Given the description of an element on the screen output the (x, y) to click on. 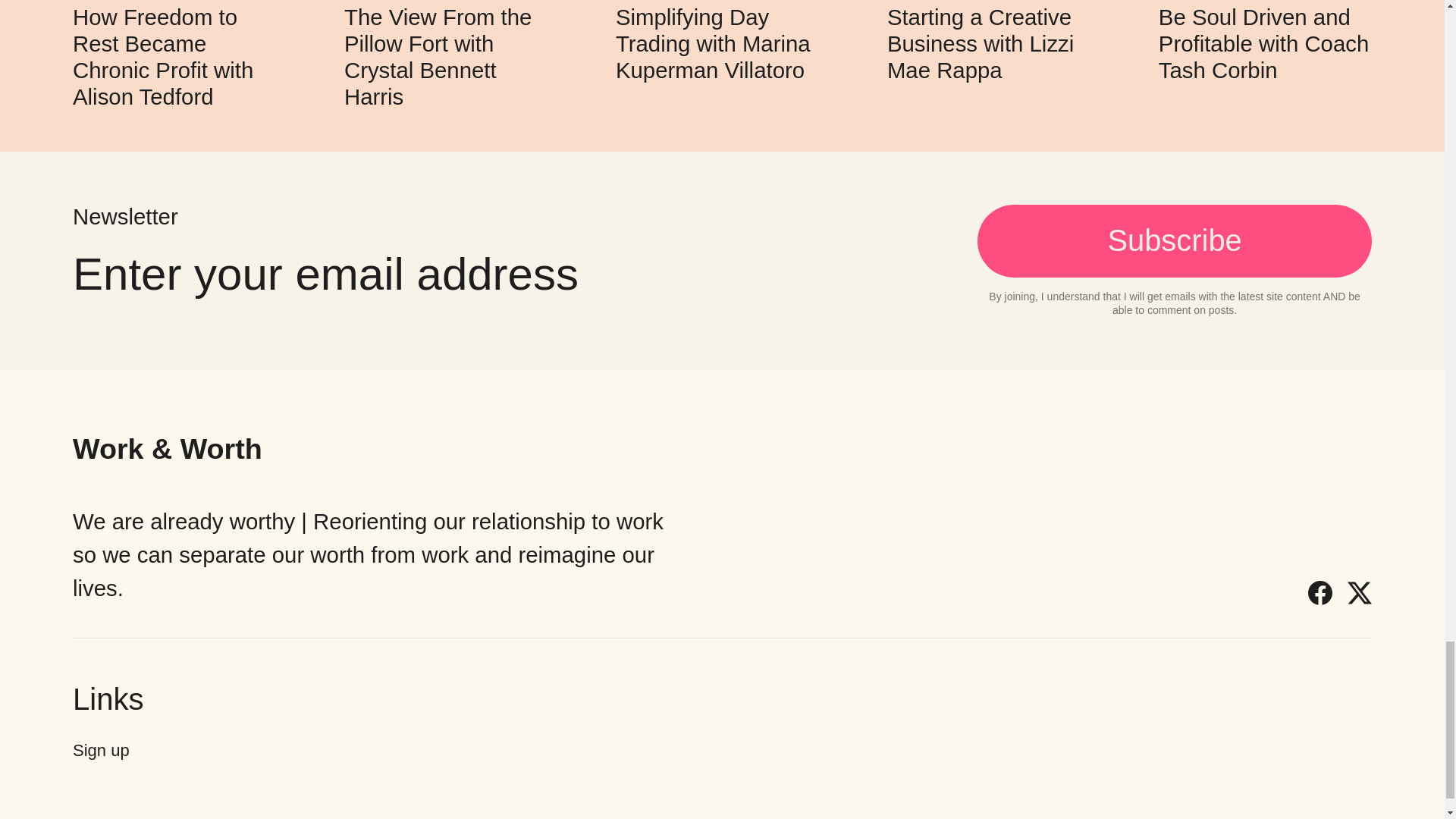
Simplifying Day Trading with Marina Kuperman Villatoro (712, 43)
Starting a Creative Business with Lizzi Mae Rappa (980, 43)
Be Soul Driven and Profitable with Coach Tash Corbin (1263, 43)
Subscribe (1173, 240)
Sign up (100, 750)
The View From the Pillow Fort with Crystal Bennett Harris (437, 56)
